Given the description of an element on the screen output the (x, y) to click on. 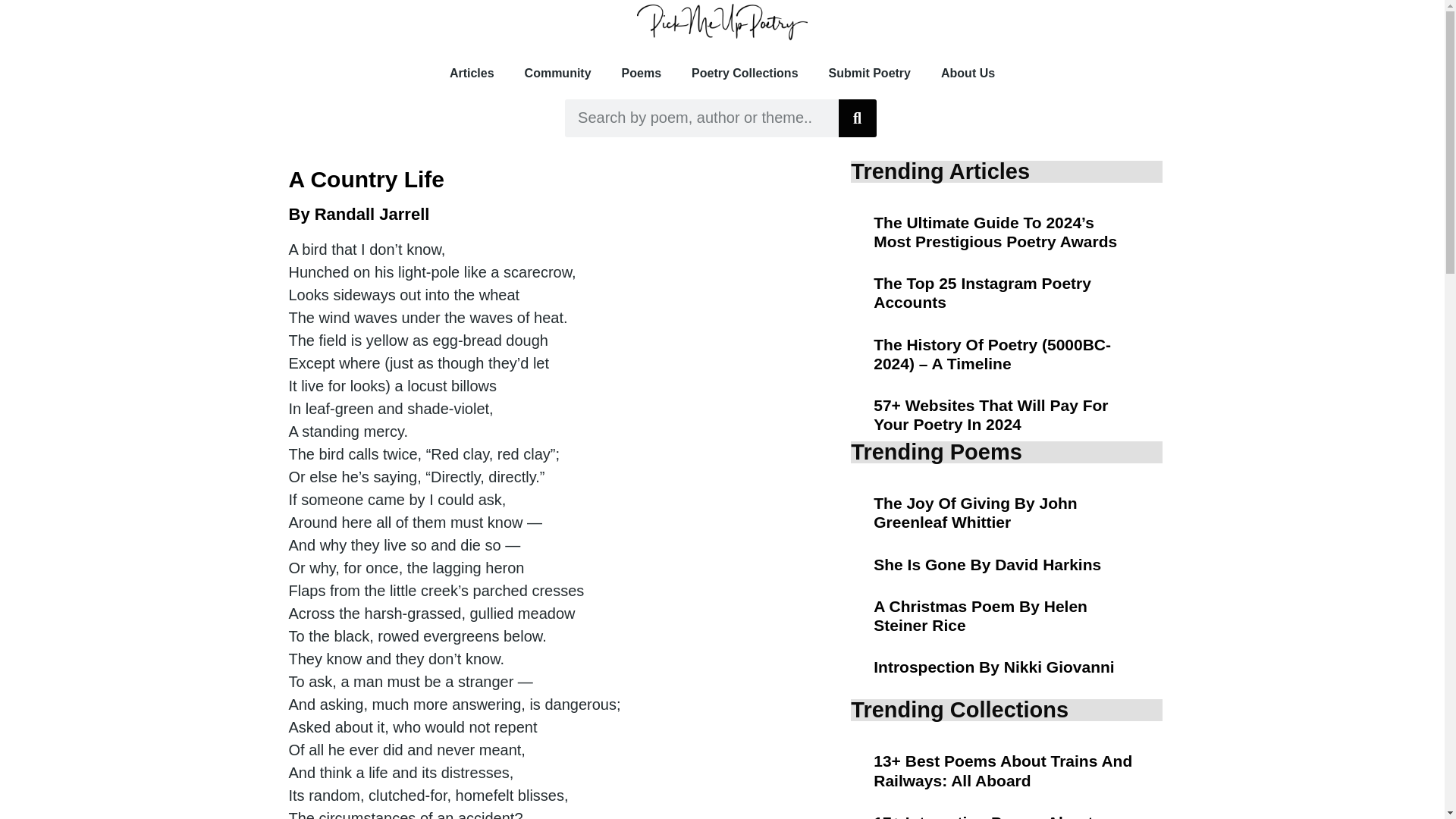
Poetry Collections (744, 73)
Articles (471, 73)
Trending Poems (936, 451)
Poems (642, 73)
Trending Collections (959, 709)
Submit Poetry (869, 73)
A Christmas Poem By Helen Steiner Rice (980, 615)
She Is Gone By David Harkins (986, 564)
Trending Articles (939, 170)
The Top 25 Instagram Poetry Accounts (981, 292)
Introspection By Nikki Giovanni (993, 666)
The Joy Of Giving By John Greenleaf Whittier (975, 512)
About Us (968, 73)
Community (558, 73)
